Given the description of an element on the screen output the (x, y) to click on. 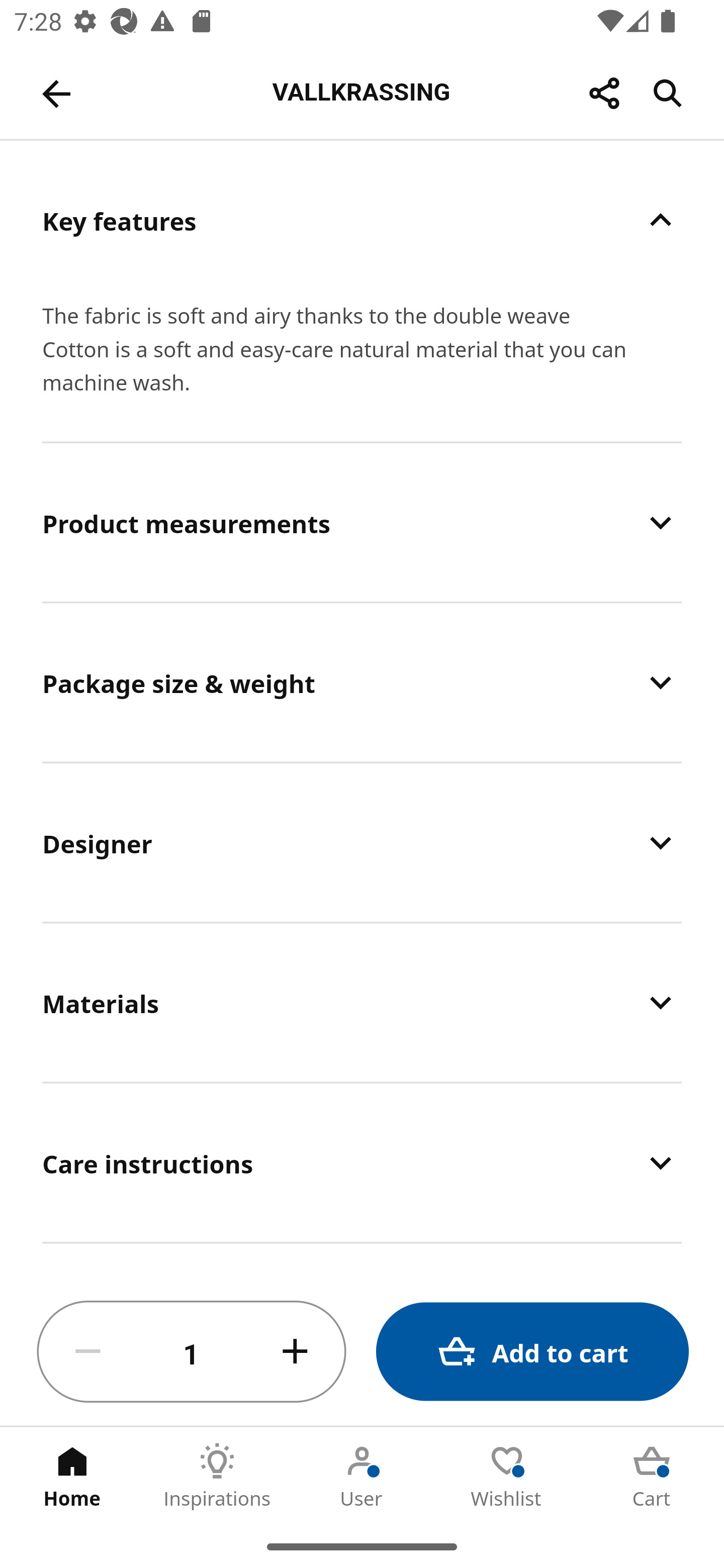
Key features (361, 219)
Product measurements (361, 522)
Package size & weight (361, 682)
Designer (361, 842)
Materials (361, 1002)
Care instructions (361, 1162)
Add to cart (531, 1352)
1 (191, 1352)
Home
Tab 1 of 5 (72, 1476)
Inspirations
Tab 2 of 5 (216, 1476)
User
Tab 3 of 5 (361, 1476)
Wishlist
Tab 4 of 5 (506, 1476)
Cart
Tab 5 of 5 (651, 1476)
